Given the description of an element on the screen output the (x, y) to click on. 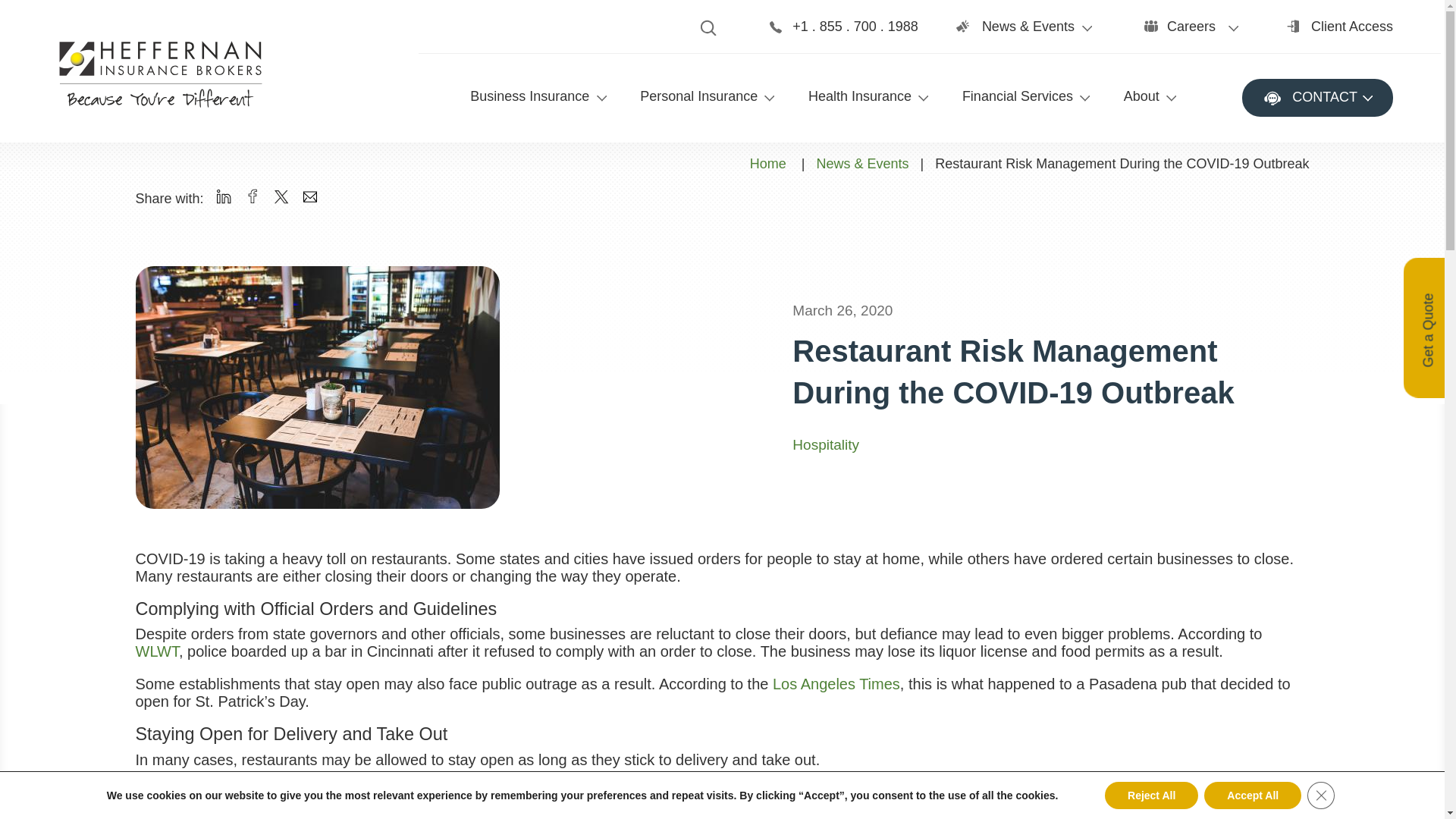
Client Access (1352, 35)
Careers (1203, 35)
Business Insurance (528, 110)
